Given the description of an element on the screen output the (x, y) to click on. 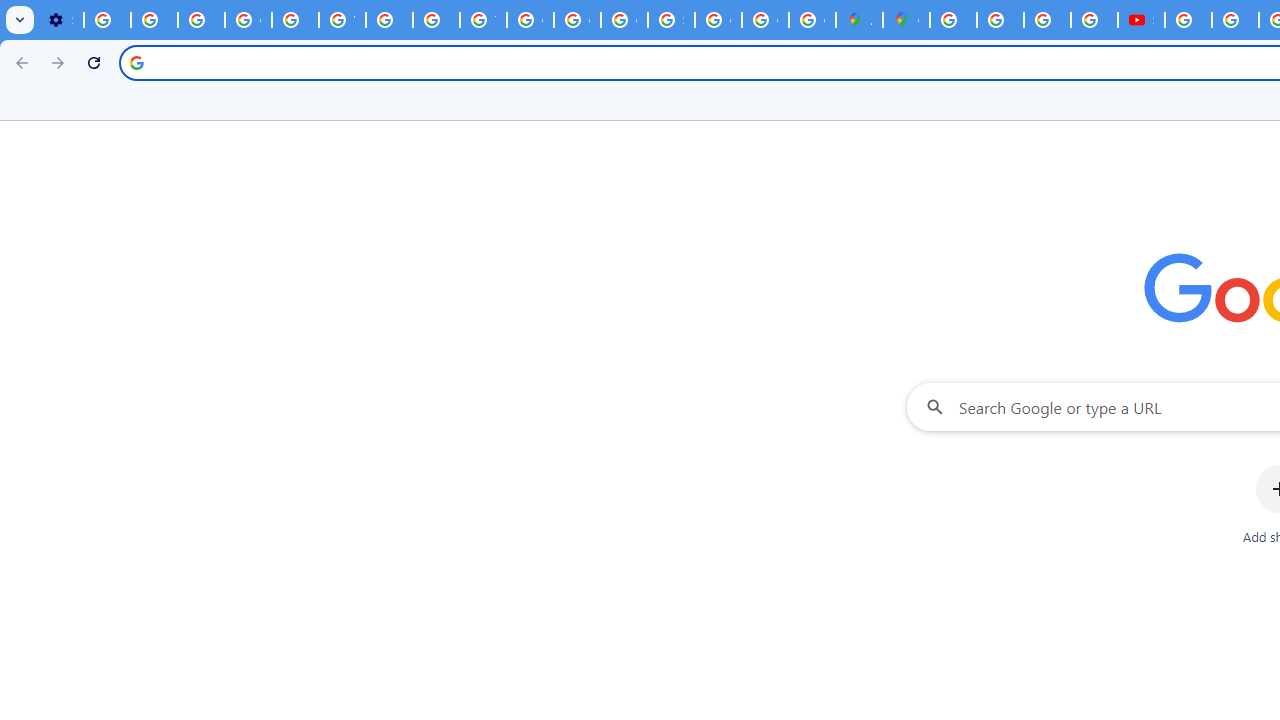
Privacy Help Center - Policies Help (294, 20)
Subscriptions - YouTube (1140, 20)
Blogger Policies and Guidelines - Transparency Center (953, 20)
How Chrome protects your passwords - Google Chrome Help (1188, 20)
Delete photos & videos - Computer - Google Photos Help (107, 20)
YouTube (342, 20)
Settings - Customize profile (60, 20)
